Given the description of an element on the screen output the (x, y) to click on. 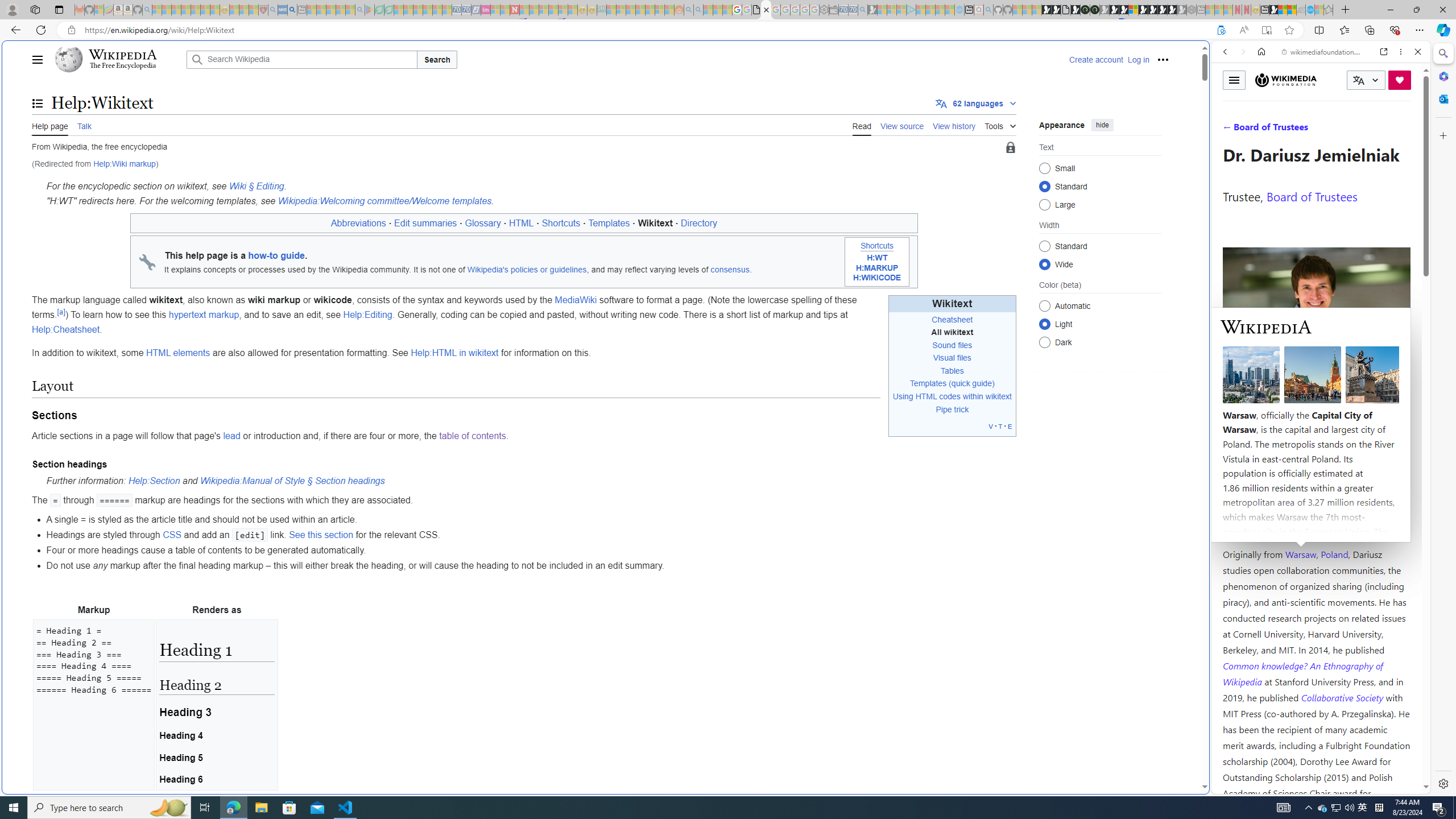
Create account (1095, 58)
Close split screen (1208, 57)
H:WT (876, 257)
Help:Cheatsheet (66, 329)
Markup (94, 609)
